Given the description of an element on the screen output the (x, y) to click on. 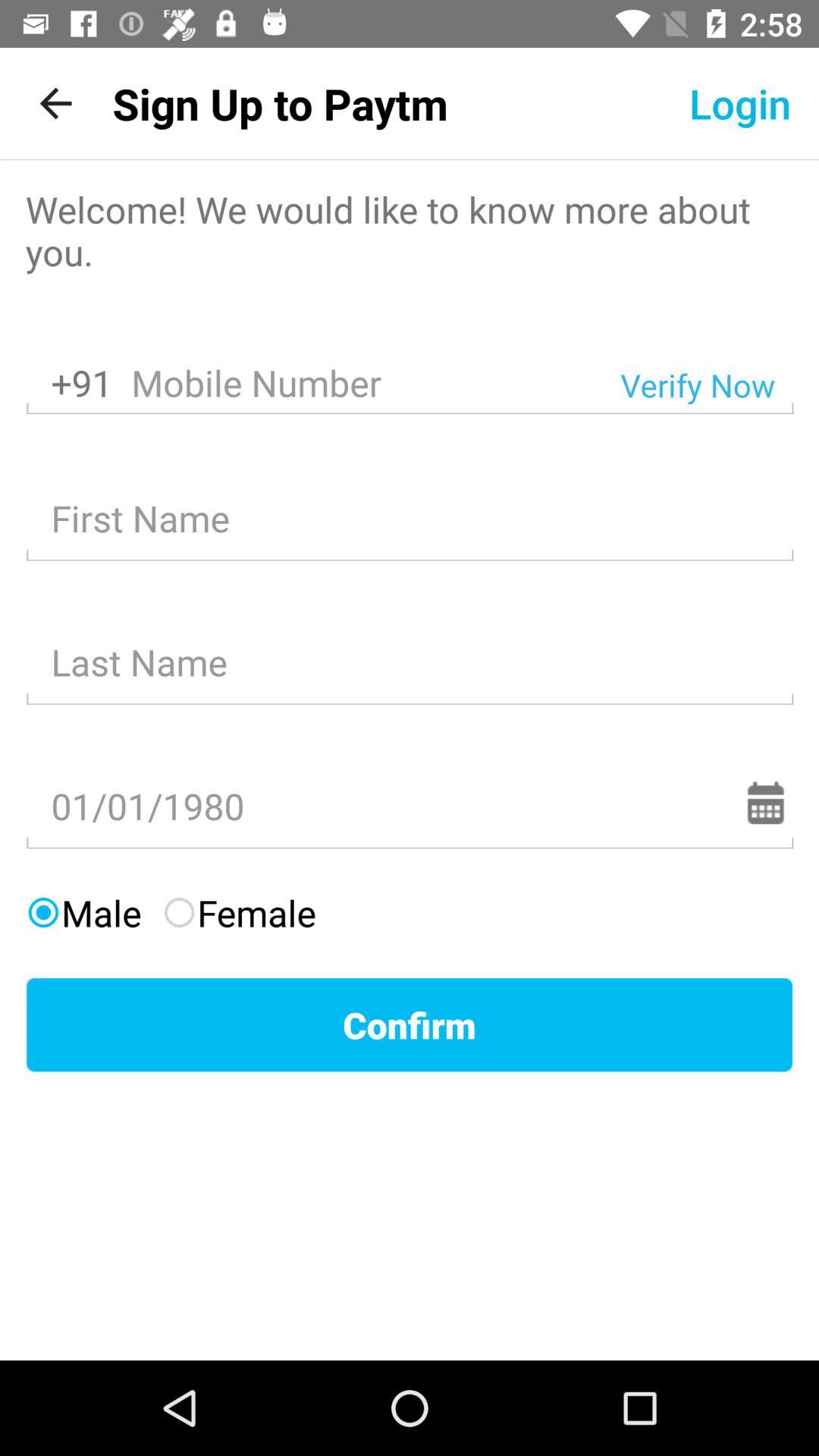
turn off icon below the male item (409, 1024)
